Given the description of an element on the screen output the (x, y) to click on. 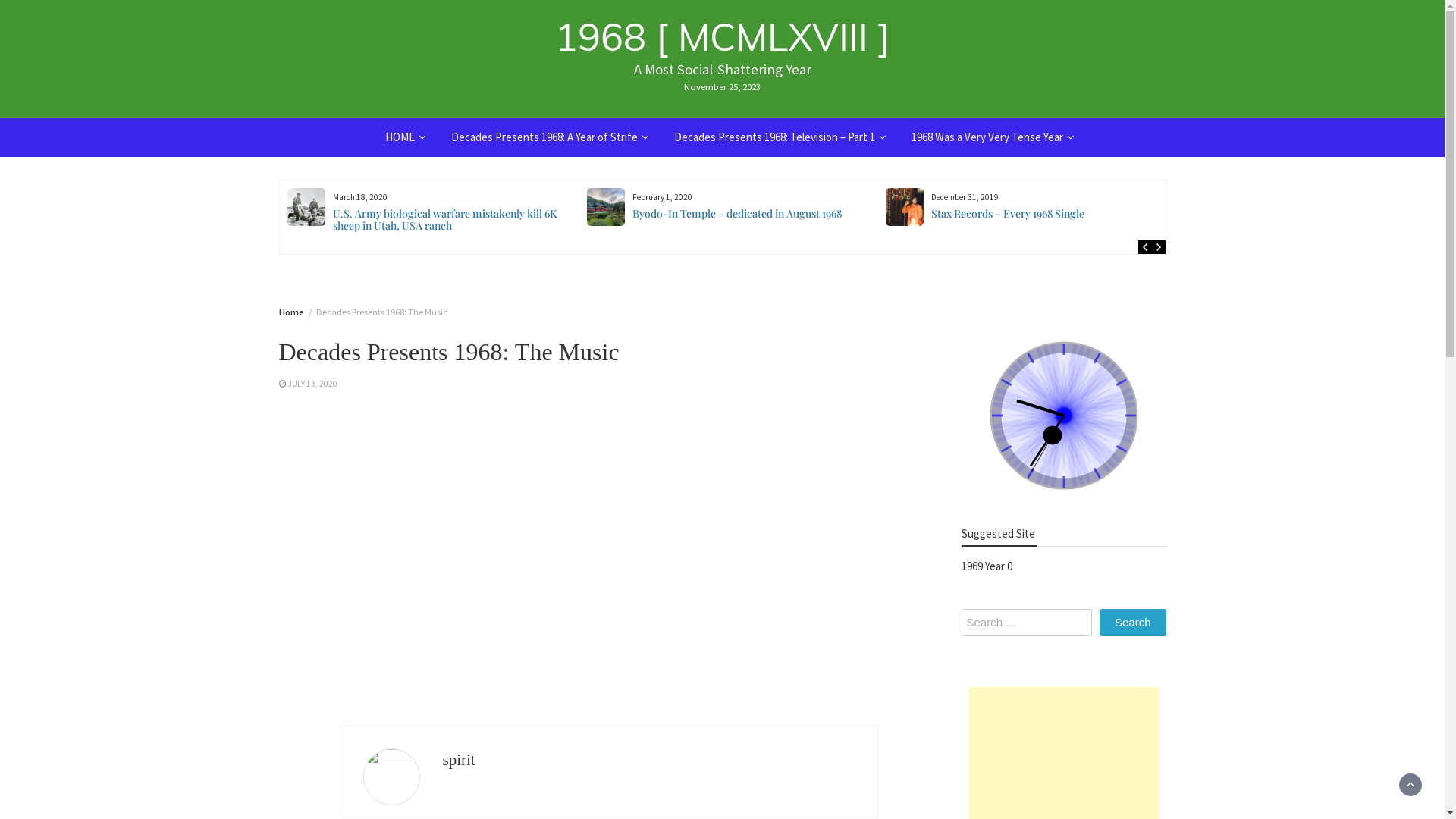
1968 [ MCMLXVIII ] Element type: text (722, 36)
1969 Year Element type: text (982, 565)
spirit Element type: text (458, 759)
JULY 13, 2020 Element type: text (312, 383)
Search for: Element type: hover (1026, 622)
HOME Element type: text (399, 136)
Decades Presents 1968: A Year of Strife Element type: text (544, 136)
Home Element type: text (291, 311)
1968 Was a Very Very Tense Year Element type: text (987, 136)
Search Element type: text (1132, 622)
